Given the description of an element on the screen output the (x, y) to click on. 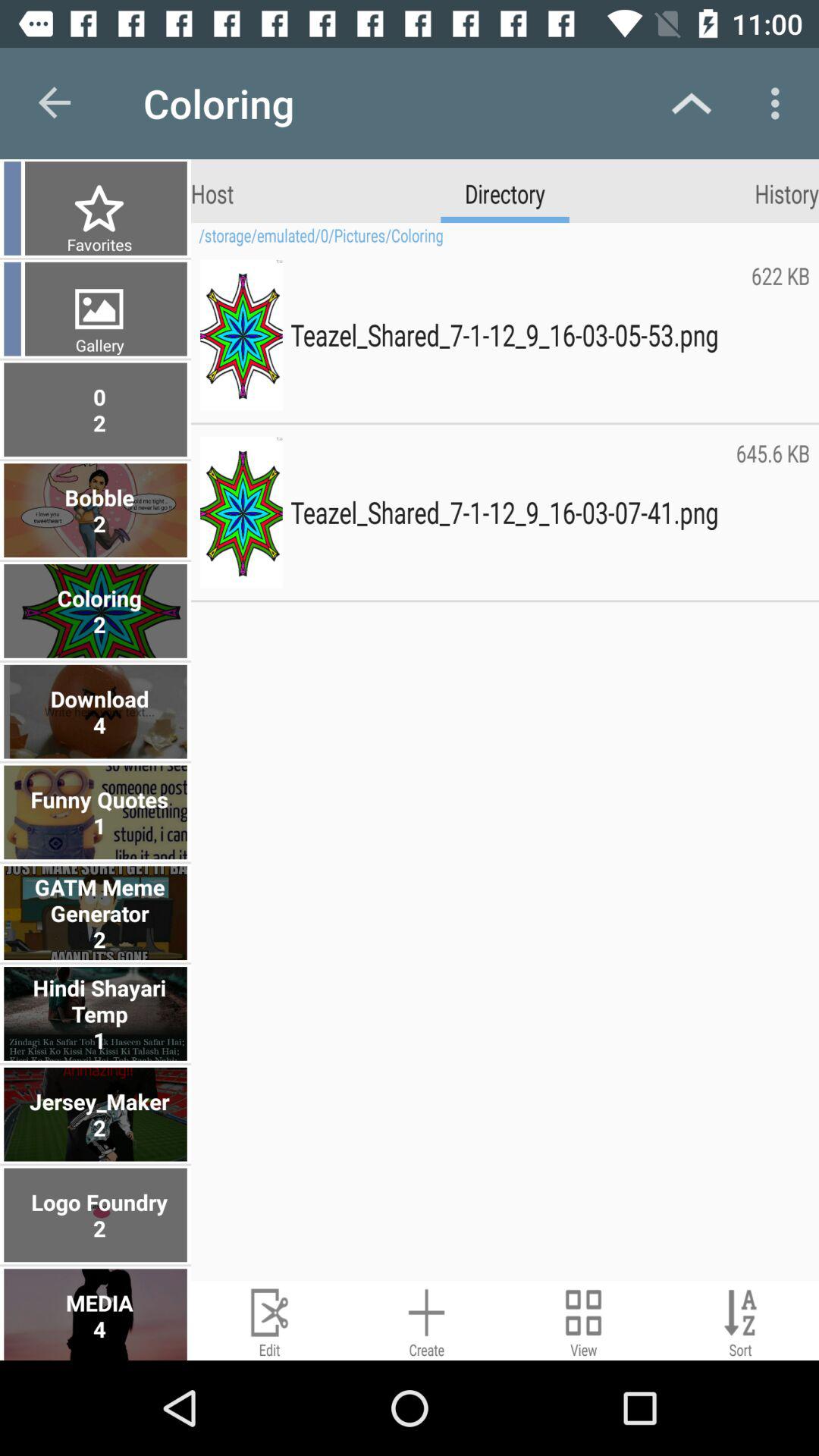
jump to the jersey_maker
2 (97, 1114)
